Given the description of an element on the screen output the (x, y) to click on. 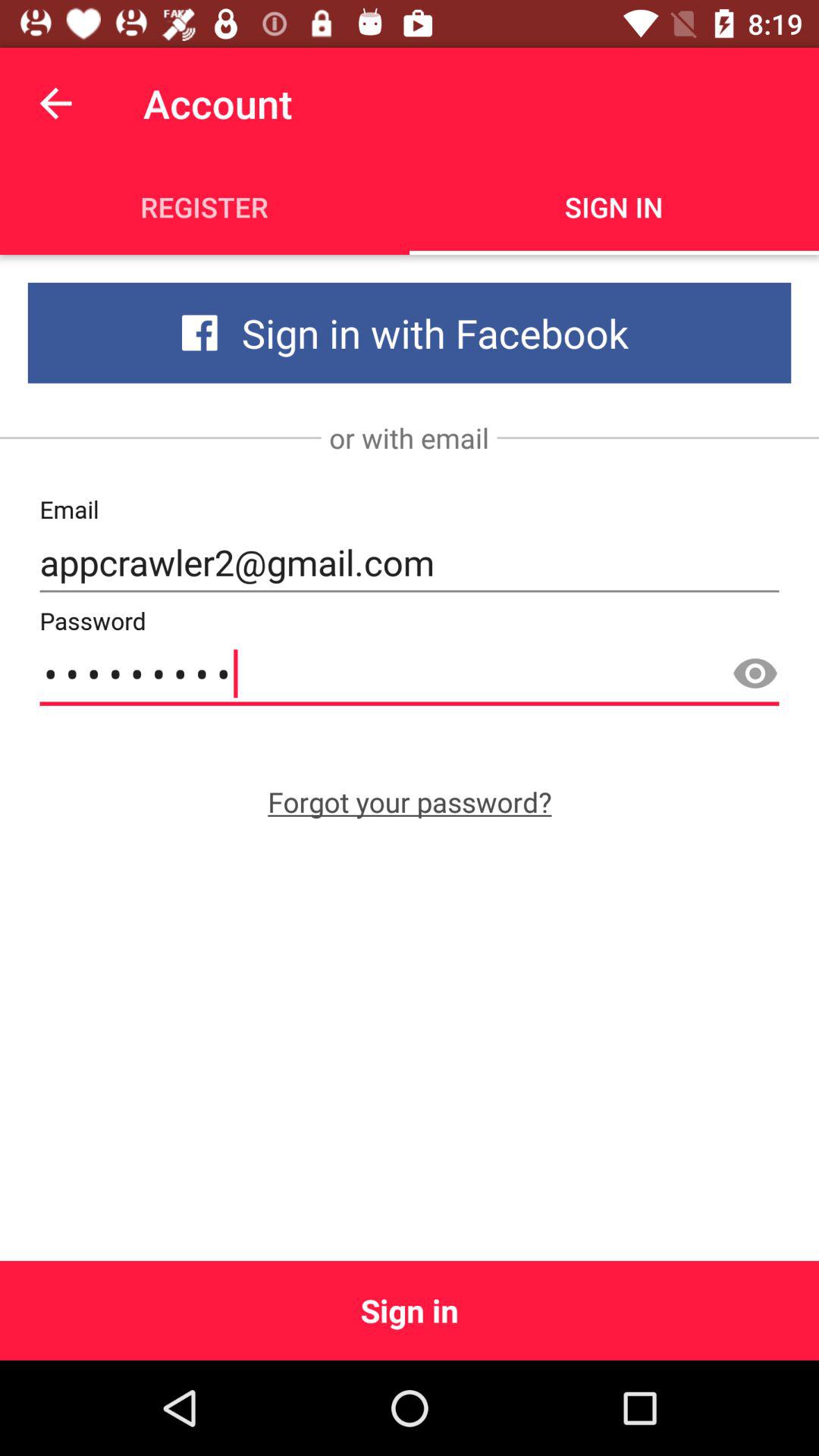
show the password (755, 673)
